Given the description of an element on the screen output the (x, y) to click on. 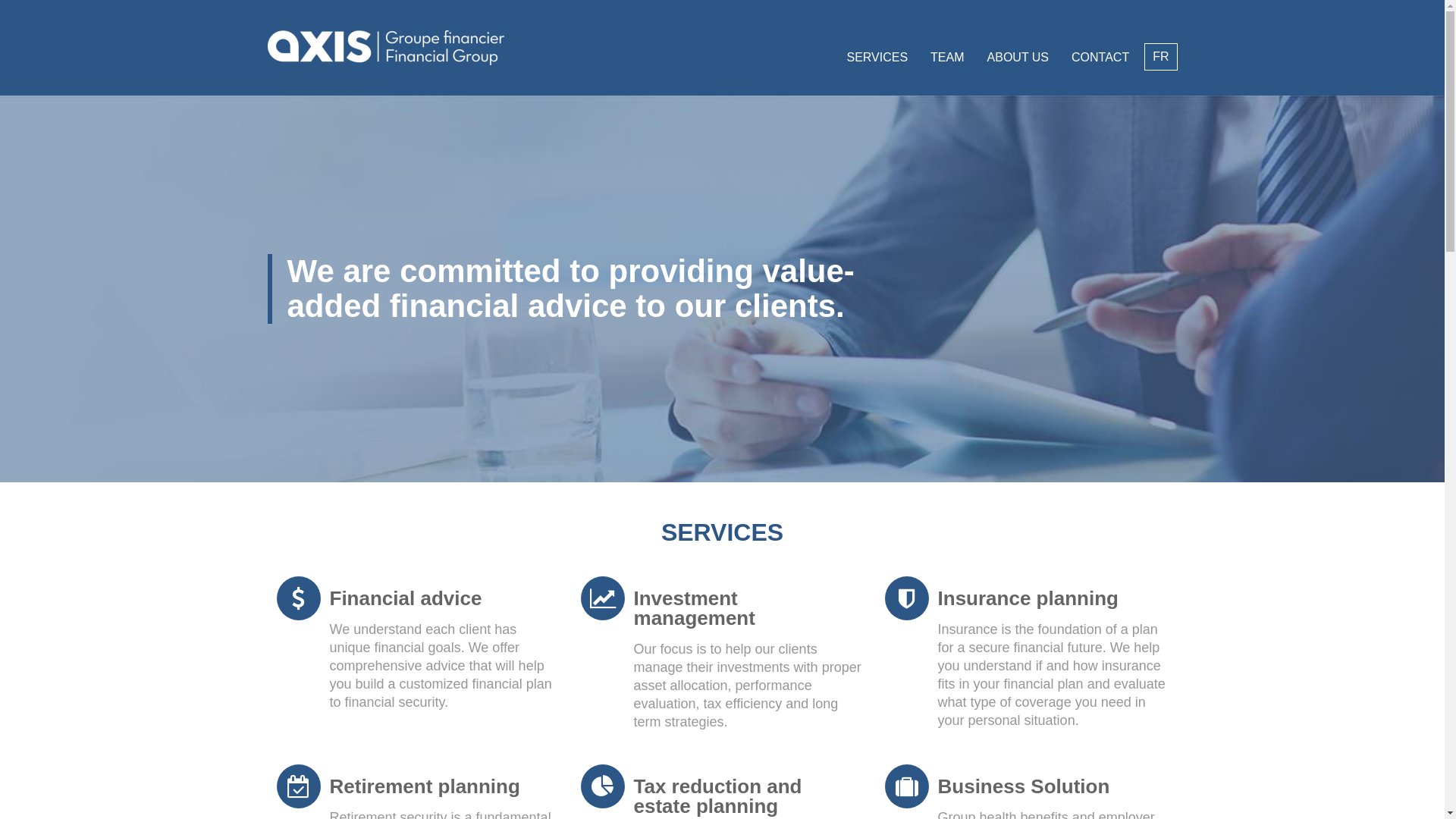
FR Element type: text (1160, 56)
SERVICES Element type: text (876, 56)
CONTACT Element type: text (1100, 56)
ABOUT US Element type: text (1018, 56)
TEAM Element type: text (946, 56)
